Given the description of an element on the screen output the (x, y) to click on. 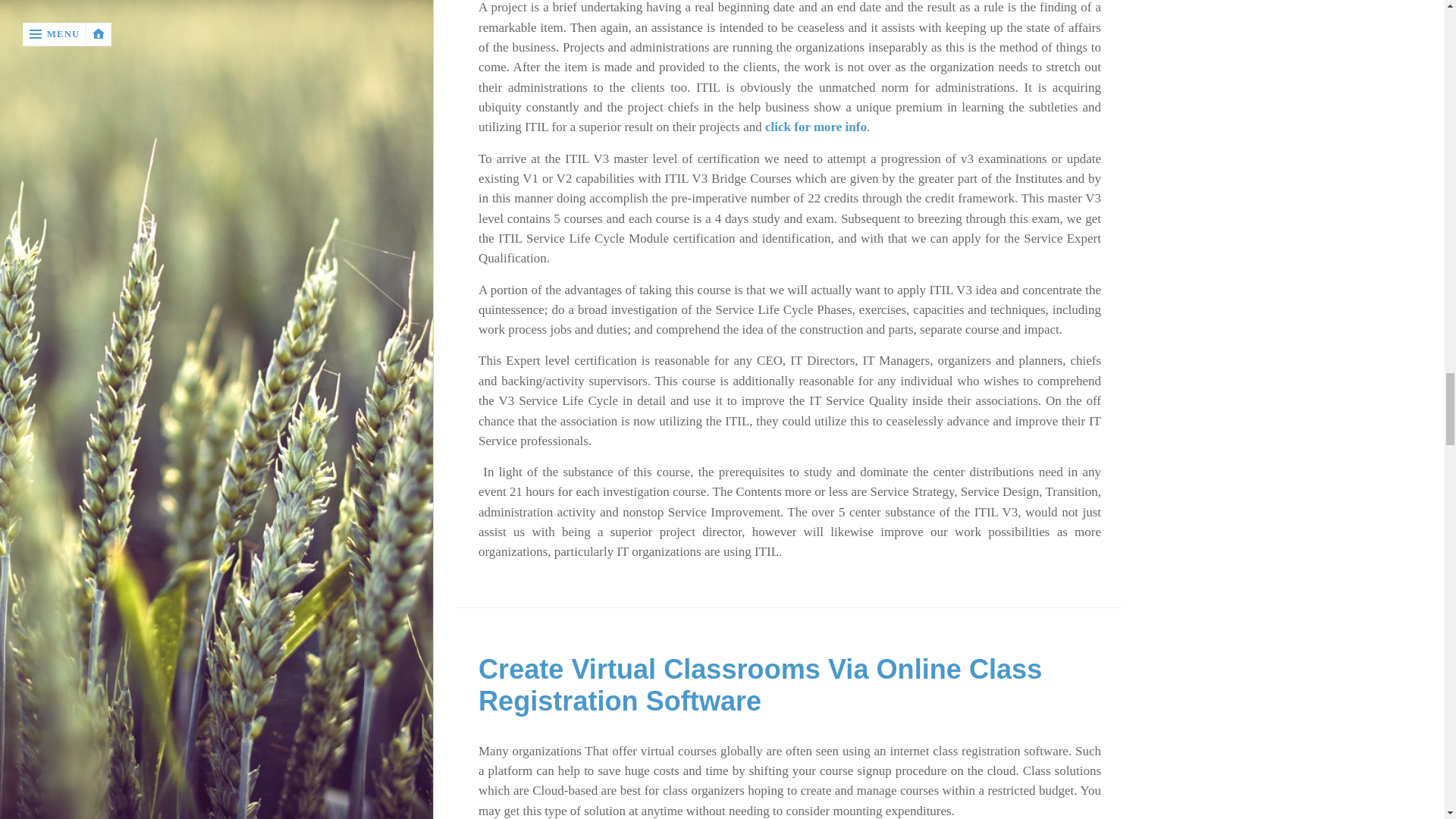
click for more info (815, 126)
